Given the description of an element on the screen output the (x, y) to click on. 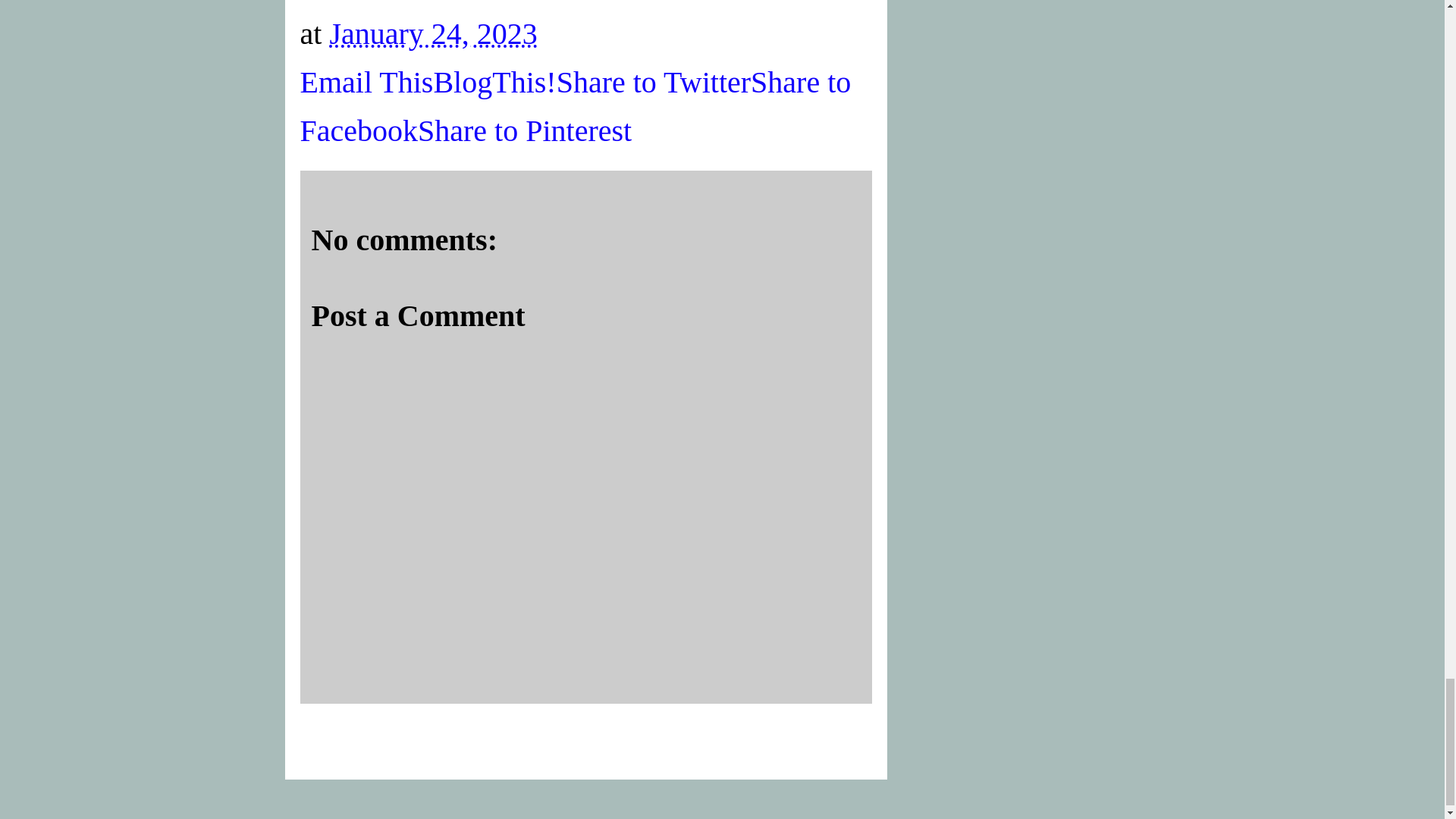
permanent link (433, 33)
Share to Pinterest (524, 130)
Share to Pinterest (524, 130)
BlogThis! (494, 82)
Email This (366, 82)
BlogThis! (494, 82)
Share to Twitter (653, 82)
Share to Facebook (575, 106)
Share to Facebook (575, 106)
January 24, 2023 (433, 33)
